Given the description of an element on the screen output the (x, y) to click on. 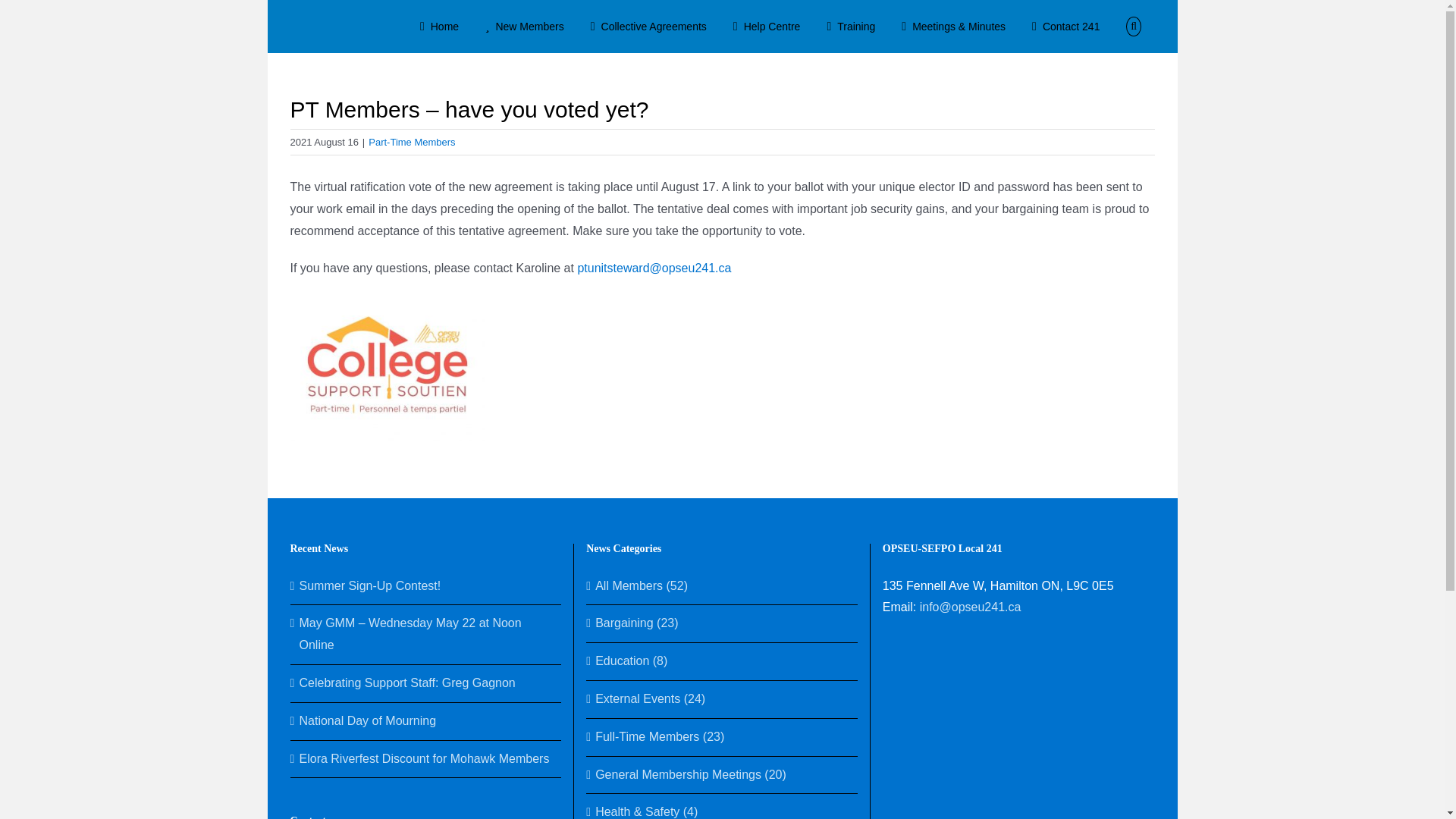
Contact 241 (1066, 26)
Information for New Members (524, 26)
View past minutes from Local and LEC meetings (953, 26)
Help Centre (766, 26)
Local 241 Homepage (438, 26)
Collective Agreements (647, 26)
Home (438, 26)
Training (850, 26)
Answers to the most common questions from members (766, 26)
New Members (524, 26)
Find and download your collective agreement (647, 26)
Contact a Steward at Local 241 (1066, 26)
